Given the description of an element on the screen output the (x, y) to click on. 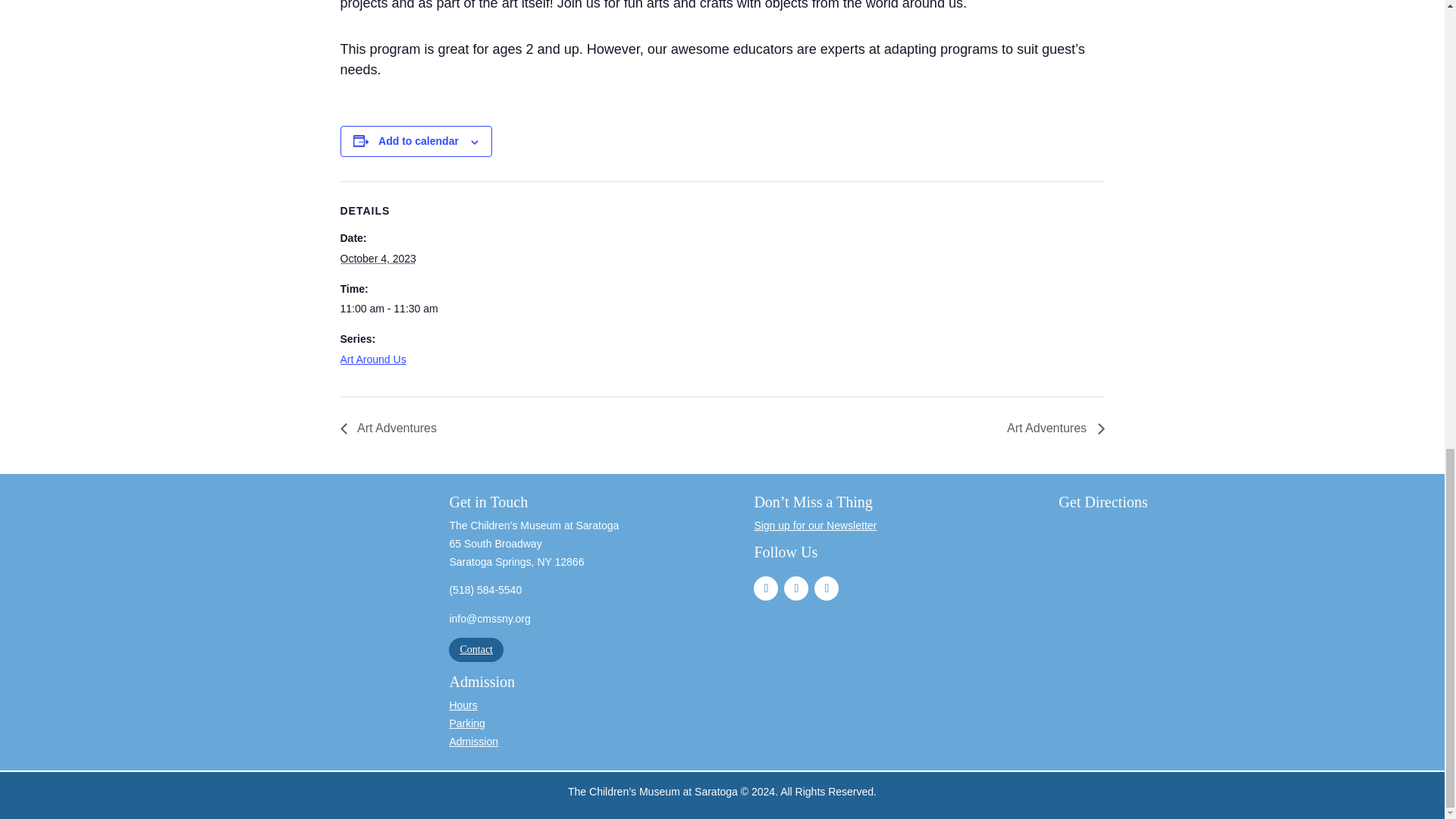
Follow on Instagram (796, 588)
2023-10-04 (403, 309)
2023-10-04 (376, 258)
Follow on X (825, 588)
Art Around Us (372, 358)
Follow on Facebook (765, 588)
